Given the description of an element on the screen output the (x, y) to click on. 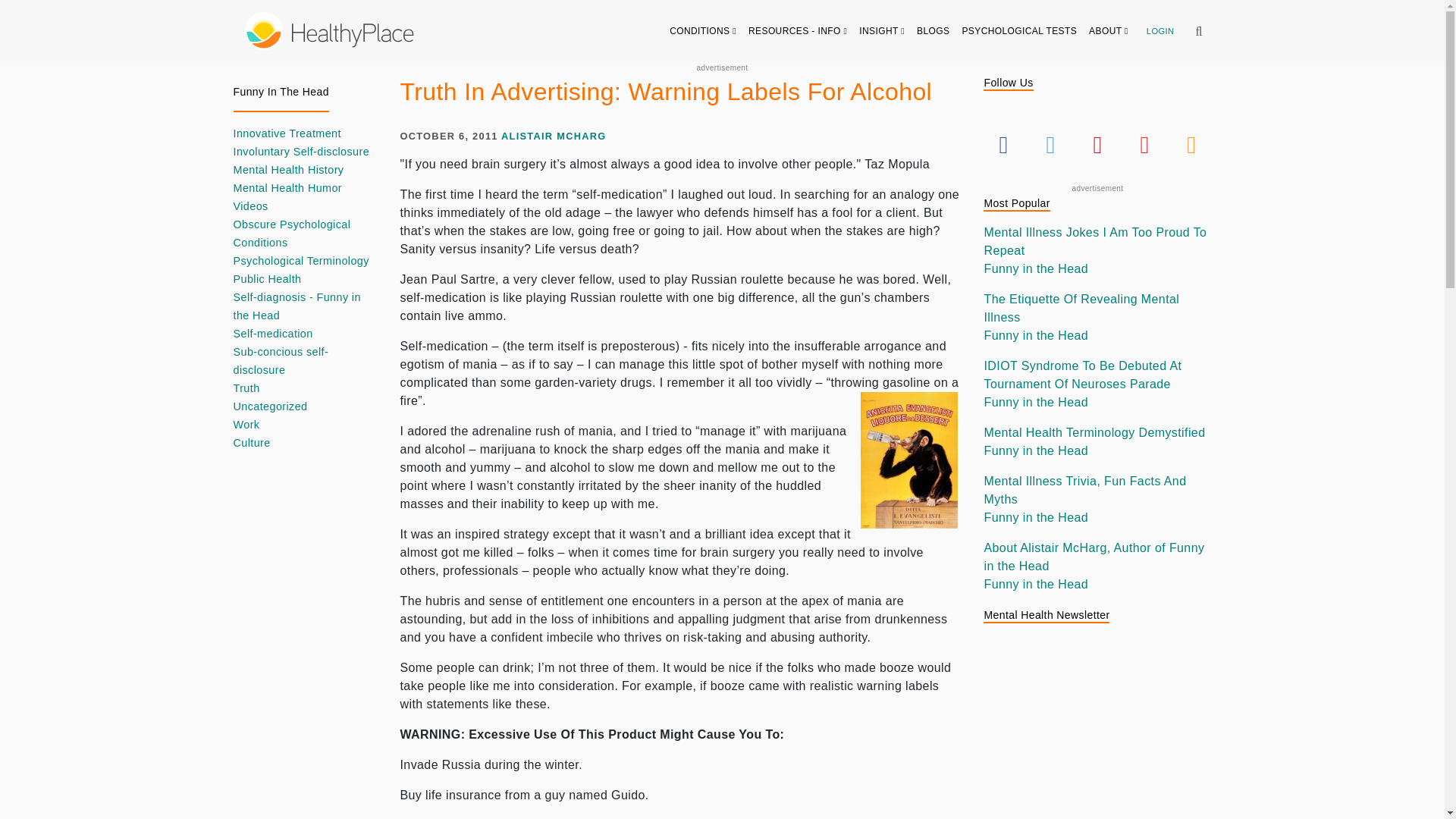
CONDITIONS (702, 31)
INSIGHT (882, 31)
RESOURCES - INFO (797, 31)
